Given the description of an element on the screen output the (x, y) to click on. 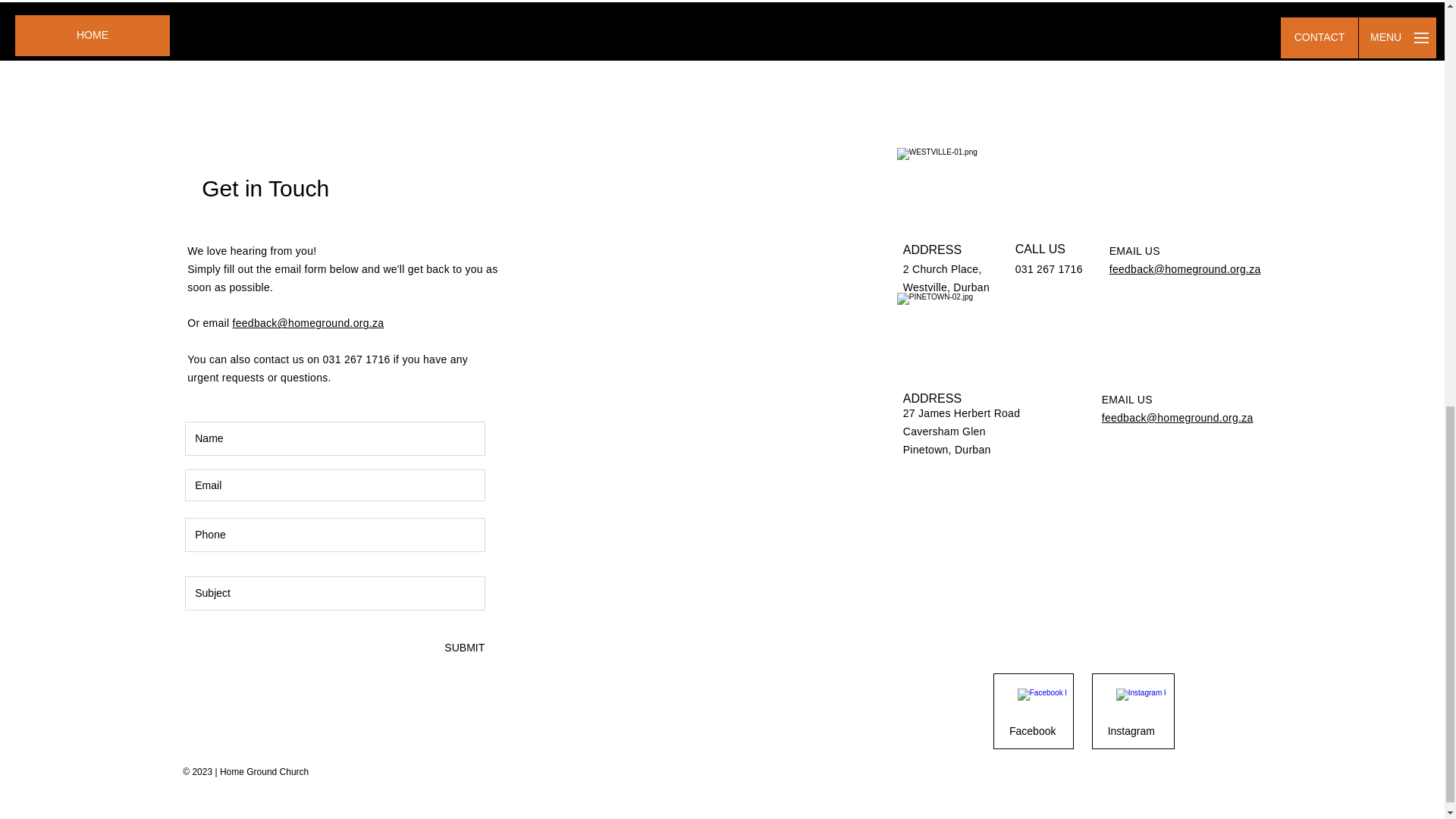
Facebook (1032, 731)
Instagram (1130, 731)
SUBMIT (463, 647)
